Given the description of an element on the screen output the (x, y) to click on. 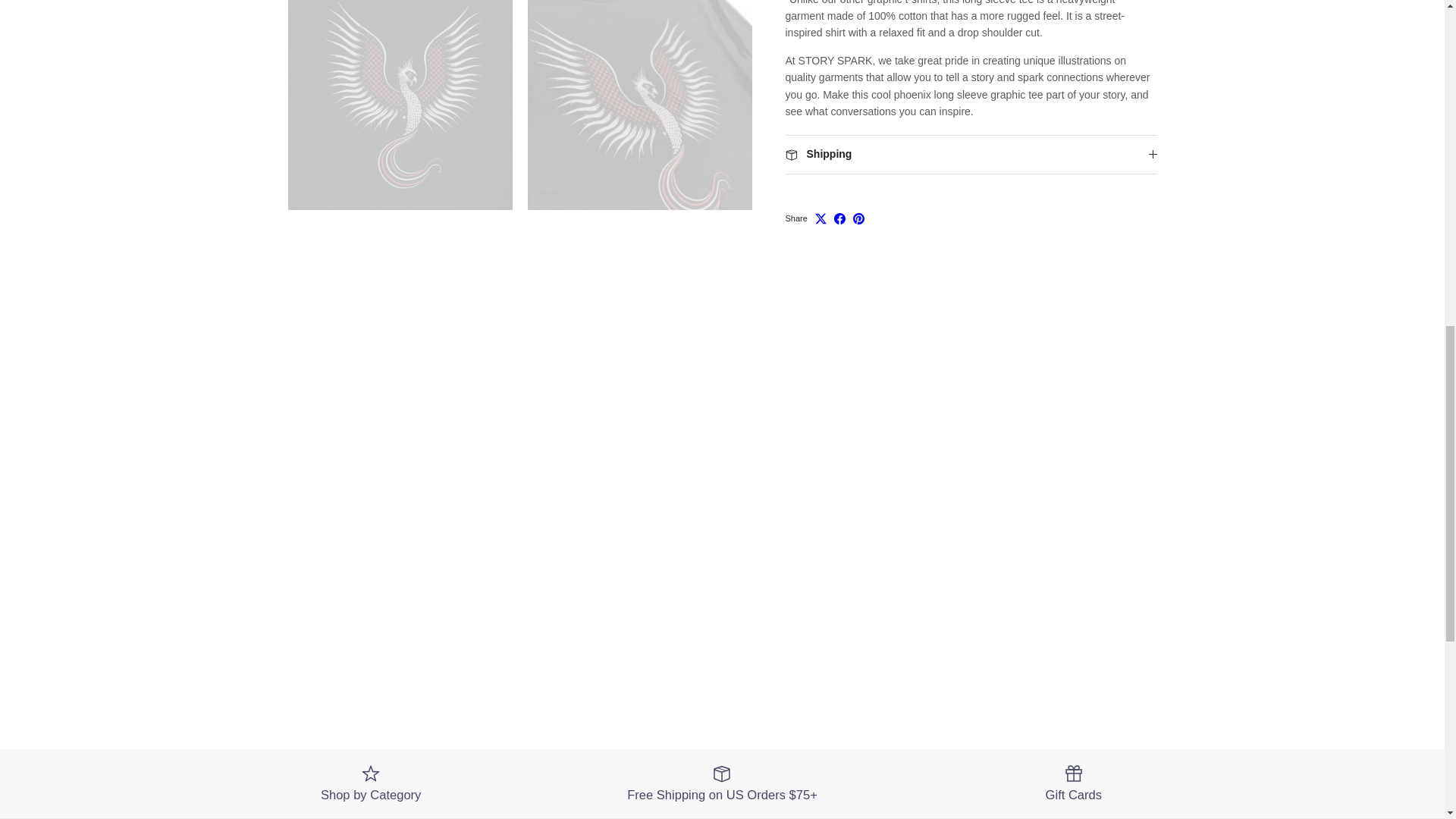
Share on Facebook (839, 199)
Tweet on X (821, 199)
Pin on Pinterest (858, 199)
